Given the description of an element on the screen output the (x, y) to click on. 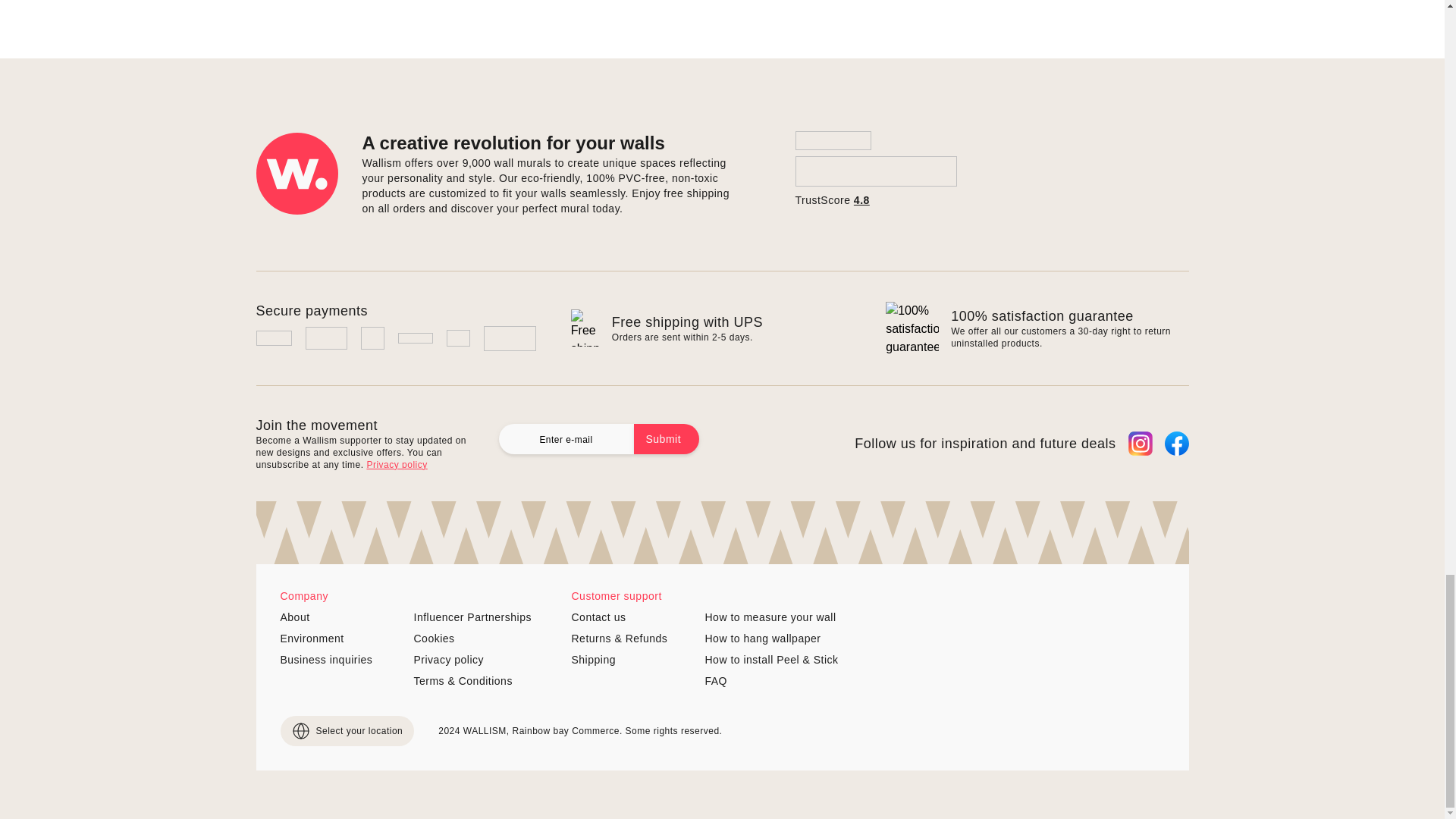
Privacy policy (474, 659)
Submit (666, 439)
Privacy policy (396, 464)
Business inquiries (341, 659)
Shipping (632, 659)
Contact us (632, 617)
TrustScore 4.8 (875, 169)
Cookies (474, 638)
About (341, 617)
Influencer Partnerships (474, 617)
How to measure your wall (771, 617)
Environment (341, 638)
